Given the description of an element on the screen output the (x, y) to click on. 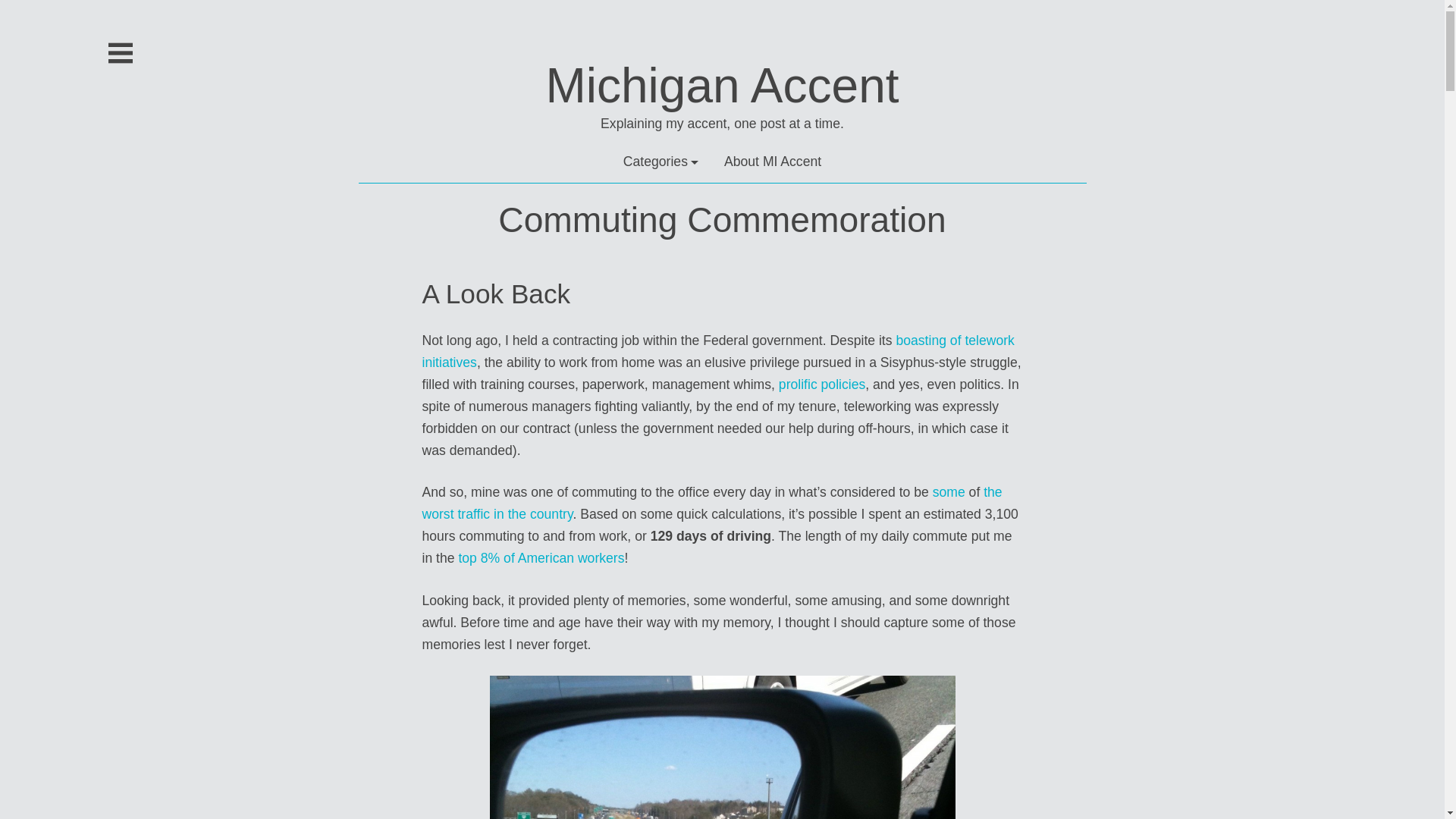
Show sidebar (119, 52)
Looking back on The Merge (722, 747)
Michigan Accent (721, 85)
Categories (660, 161)
Michigan Accent (721, 85)
